Given the description of an element on the screen output the (x, y) to click on. 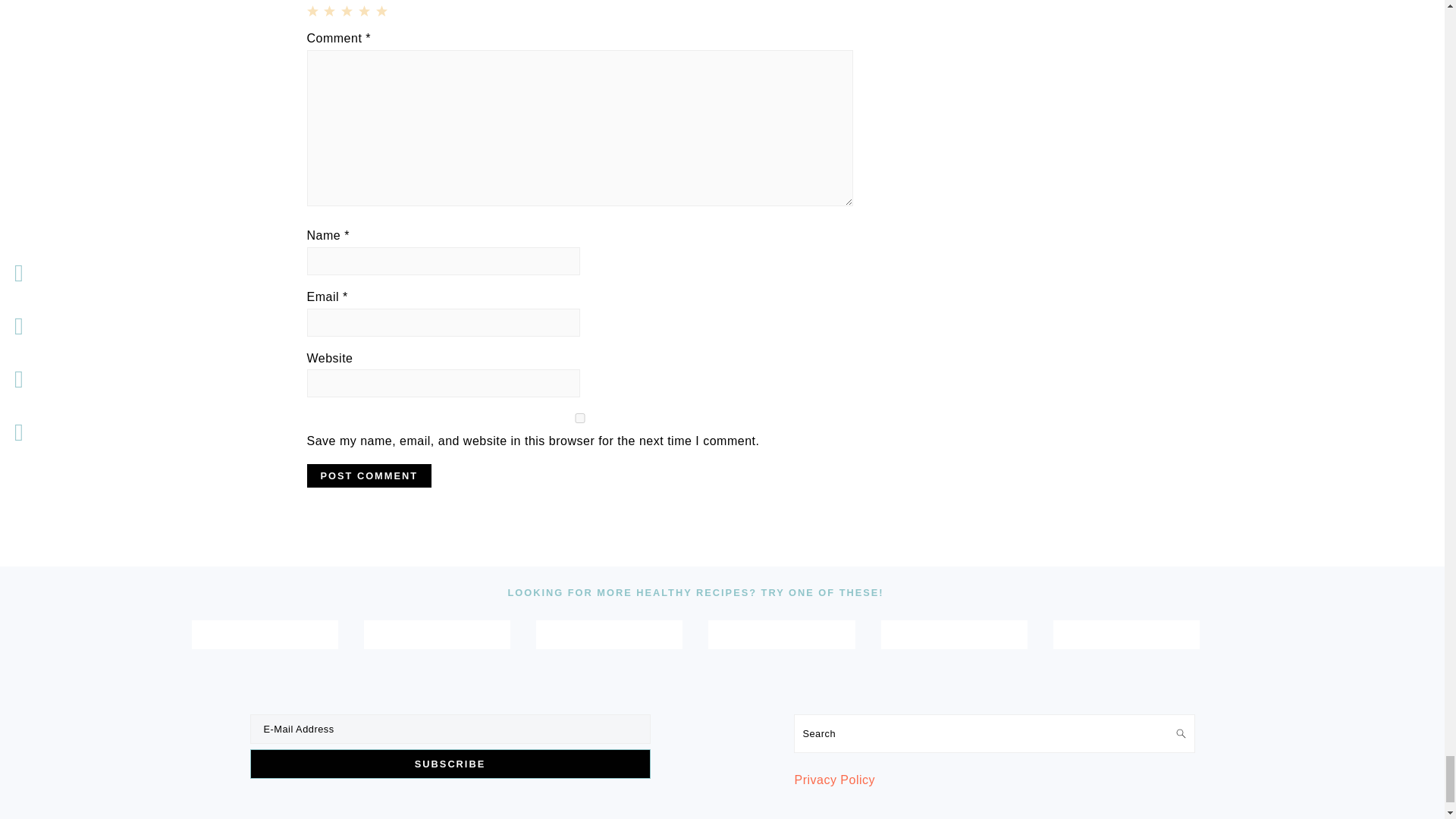
yes (578, 418)
Subscribe (450, 763)
Post Comment (367, 475)
